Given the description of an element on the screen output the (x, y) to click on. 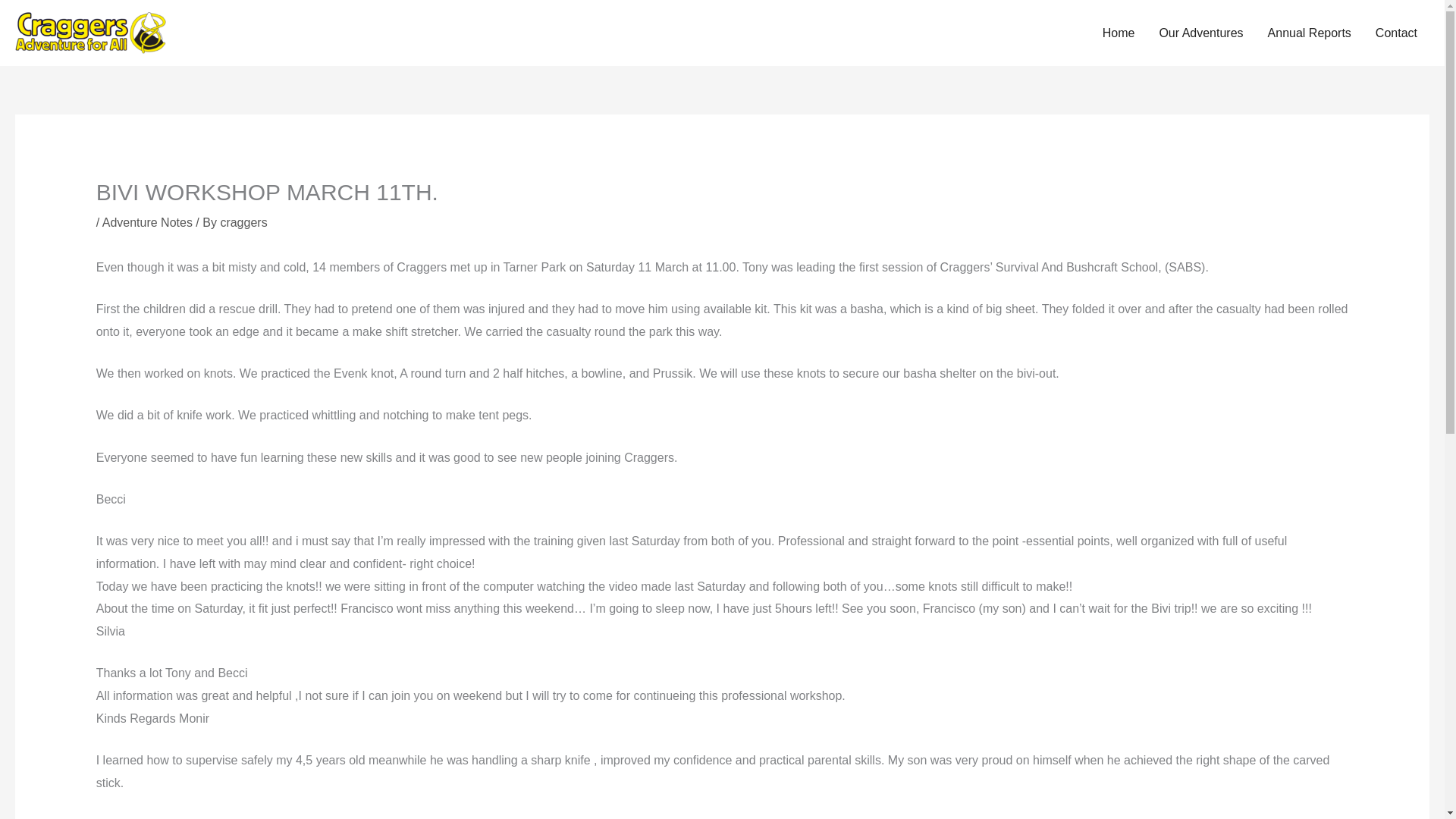
Home (1118, 33)
Annual Reports (1308, 33)
craggers (242, 222)
Adventure Notes (146, 222)
Our Adventures (1201, 33)
View all posts by craggers (242, 222)
Contact (1395, 33)
